Given the description of an element on the screen output the (x, y) to click on. 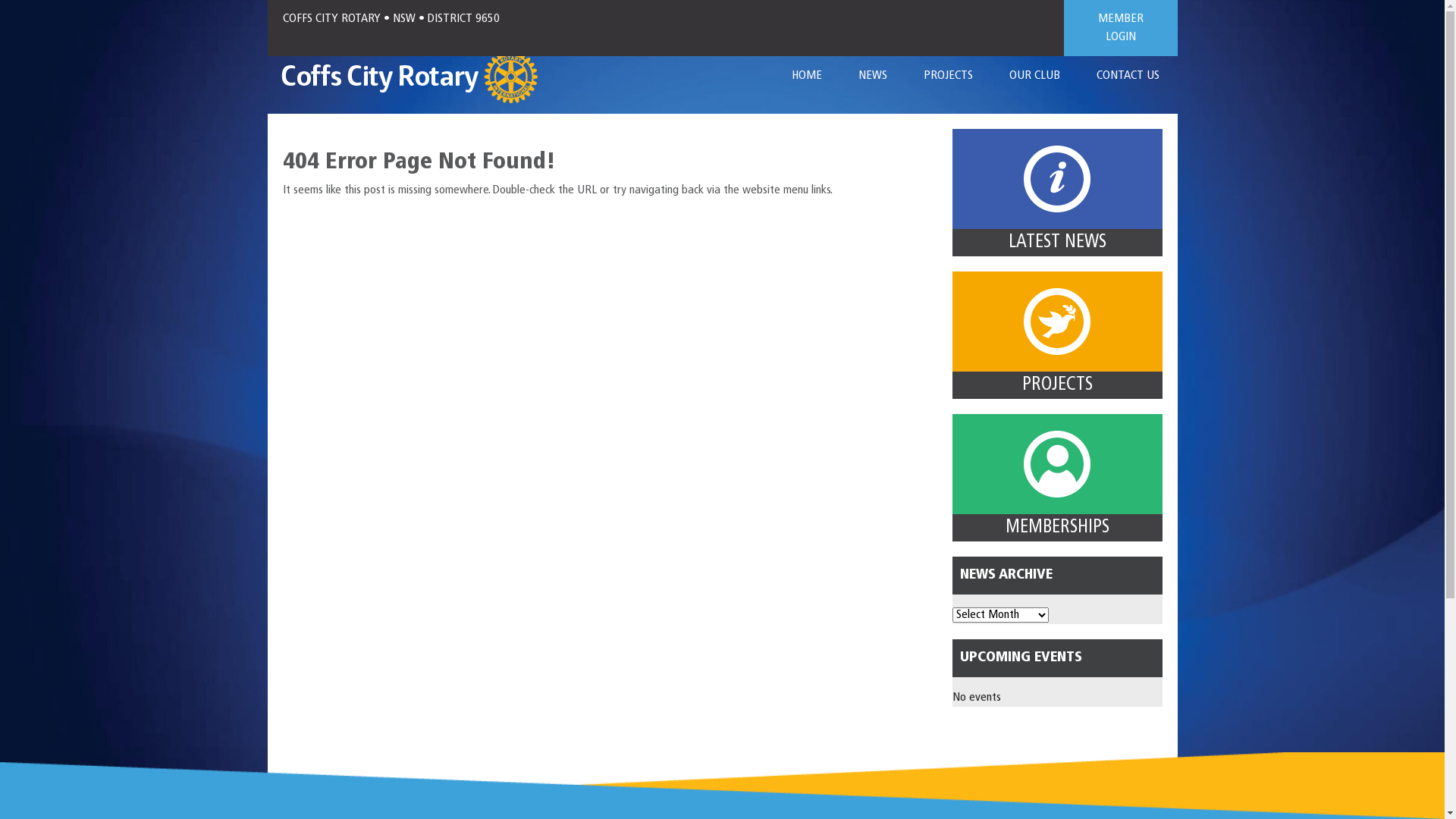
Latest News Element type: hover (1056, 178)
NEWS Element type: text (872, 75)
Memberships Element type: hover (1056, 464)
PROJECTS Element type: text (948, 75)
CONTACT US Element type: text (1127, 75)
OUR CLUB Element type: text (1033, 75)
Projects Element type: hover (1056, 321)
MEMBER LOGIN Element type: text (1119, 28)
HOME Element type: text (806, 75)
